Given the description of an element on the screen output the (x, y) to click on. 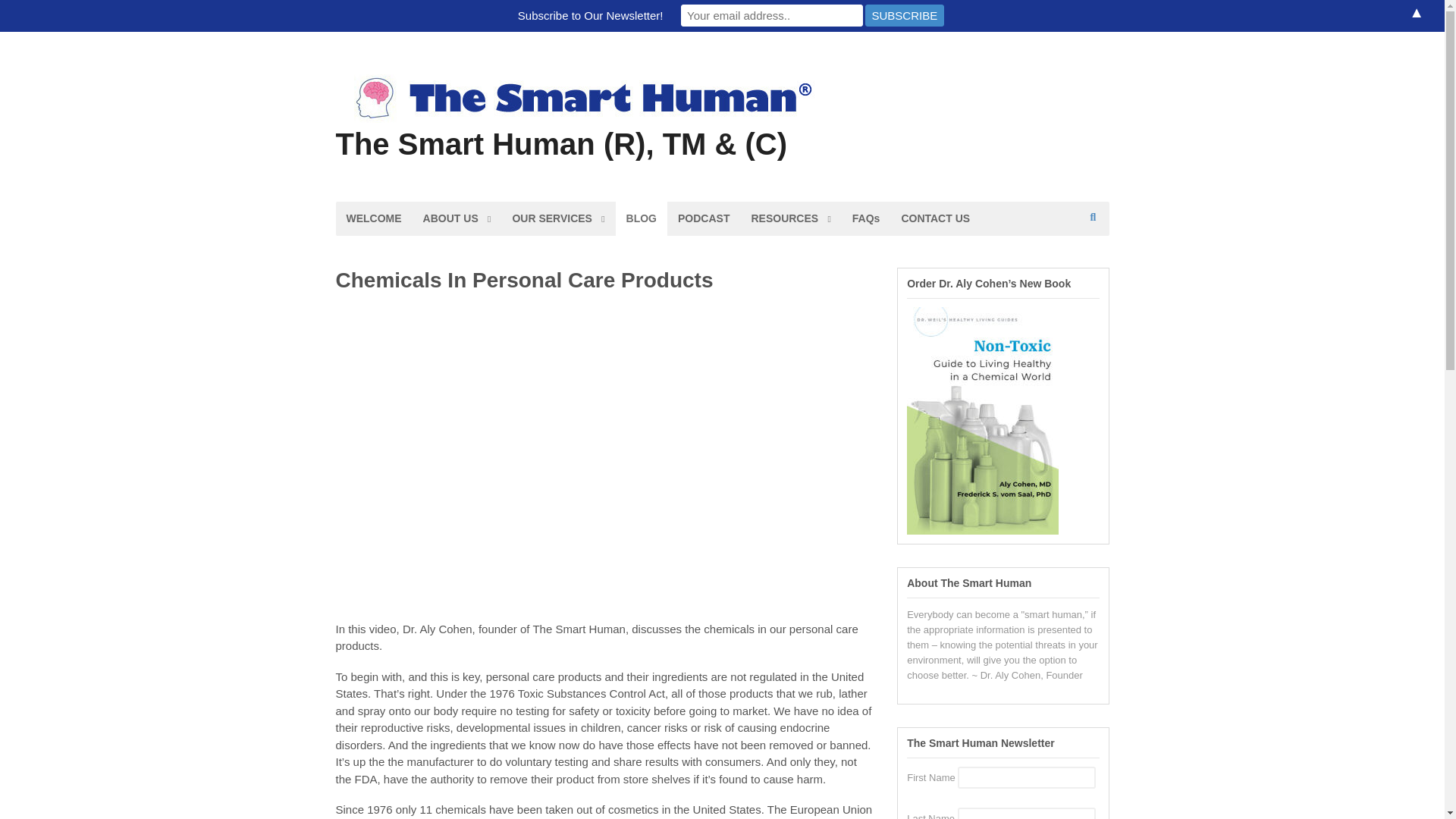
PODCAST (702, 218)
Subscribe (903, 15)
OUR SERVICES (557, 218)
ABOUT US (457, 218)
Search (1085, 265)
BLOG (640, 218)
FAQs (866, 218)
RESOURCES (790, 218)
WELCOME (373, 218)
CONTACT US (934, 218)
